Given the description of an element on the screen output the (x, y) to click on. 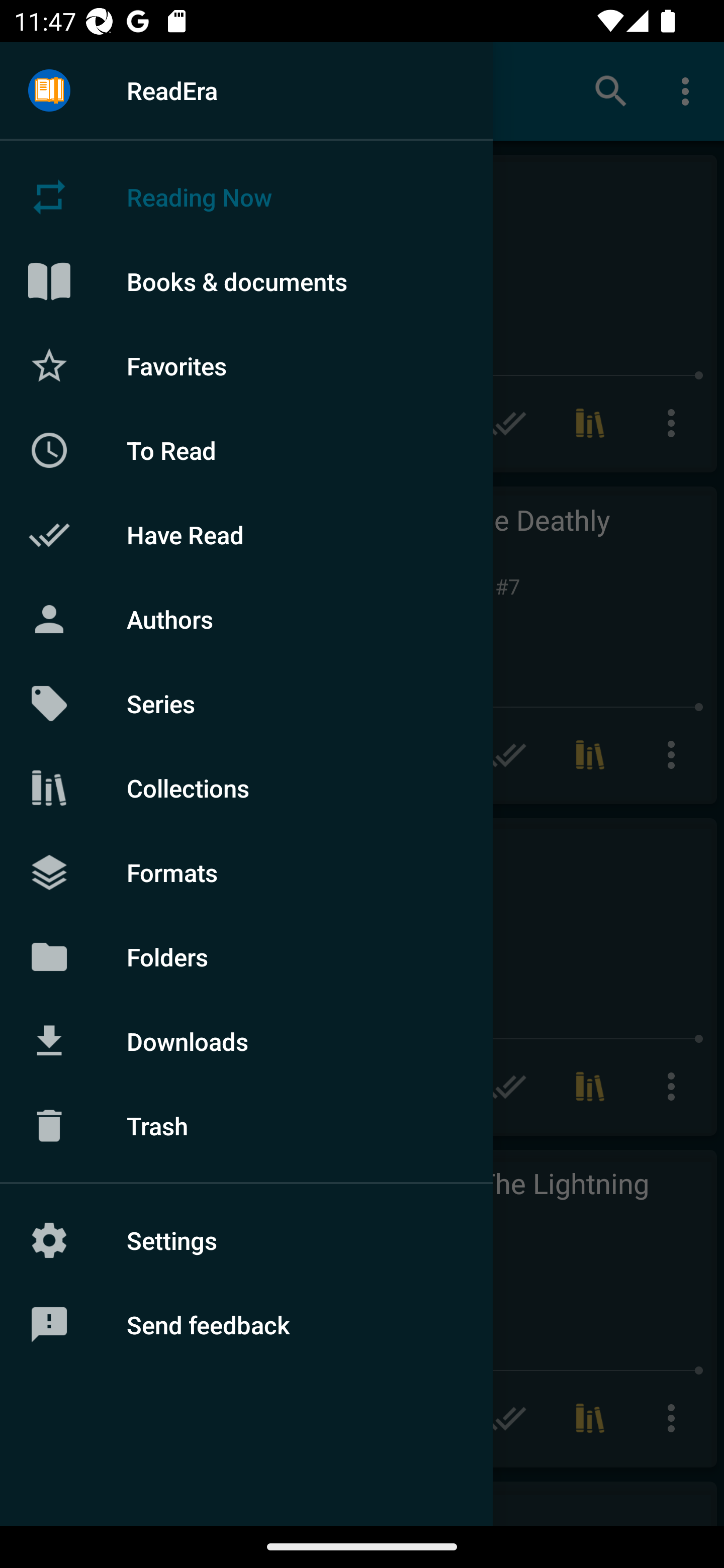
Menu (49, 91)
ReadEra (246, 89)
Search books & documents (611, 90)
More options (688, 90)
Reading Now (246, 197)
Books & documents (246, 281)
Favorites (246, 365)
To Read (246, 449)
Have Read (246, 534)
Authors (246, 619)
Series (246, 703)
Collections (246, 787)
Formats (246, 871)
Folders (246, 956)
Downloads (246, 1040)
Trash (246, 1125)
Settings (246, 1239)
Send feedback (246, 1324)
